Given the description of an element on the screen output the (x, y) to click on. 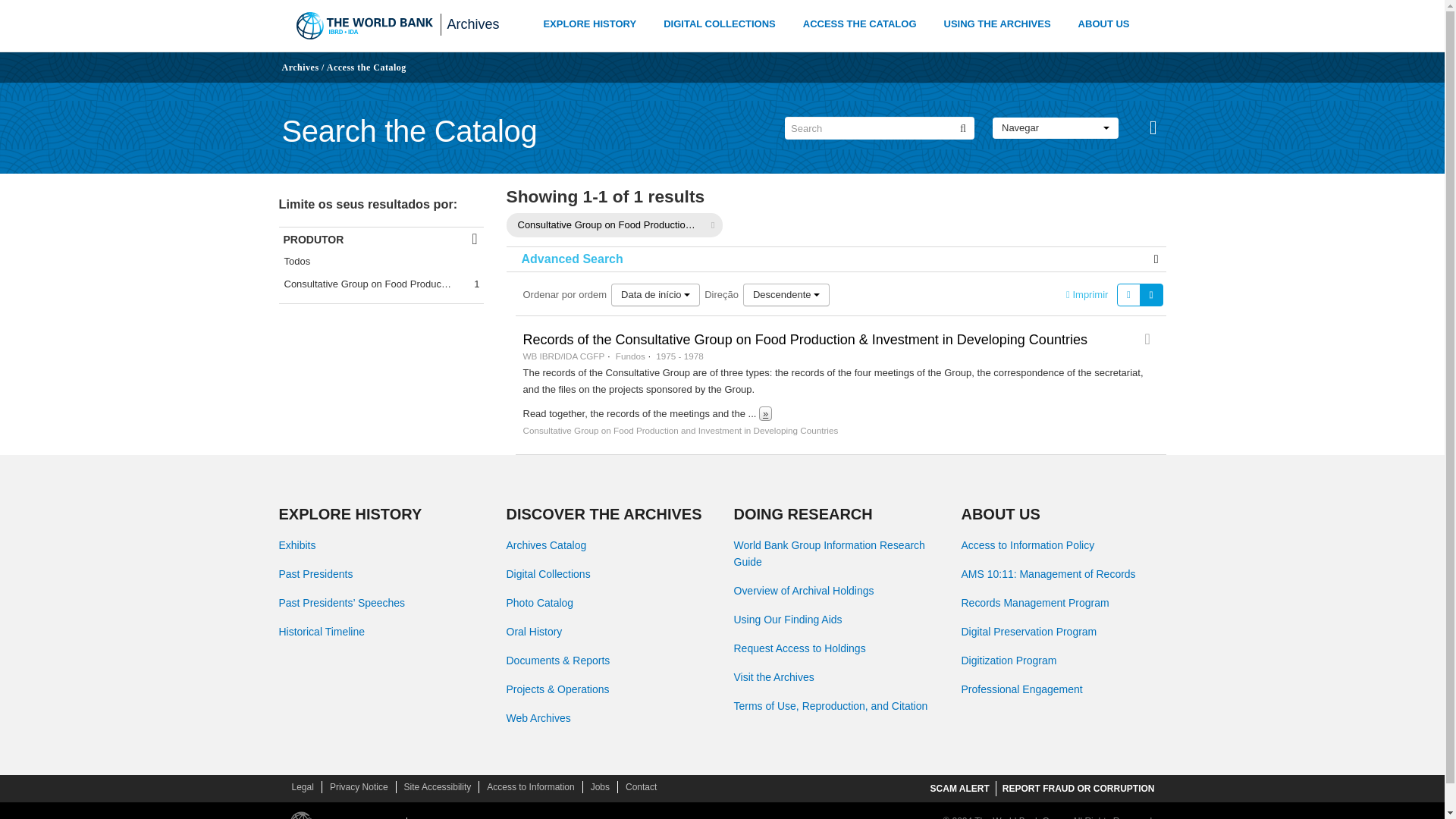
Archives (300, 67)
ACCESS THE CATALOG (860, 25)
DIGITAL COLLECTIONS (719, 25)
International Bank for Reconstruction and Development (429, 818)
USING THE ARCHIVES (997, 25)
Todos (381, 261)
Access the Catalog (366, 67)
ABOUT US (1104, 24)
The World Bank Working for a World Free of Poverty (364, 25)
International Development Association (461, 818)
Imprimir (1086, 294)
International Finance Corporation (489, 818)
